Given the description of an element on the screen output the (x, y) to click on. 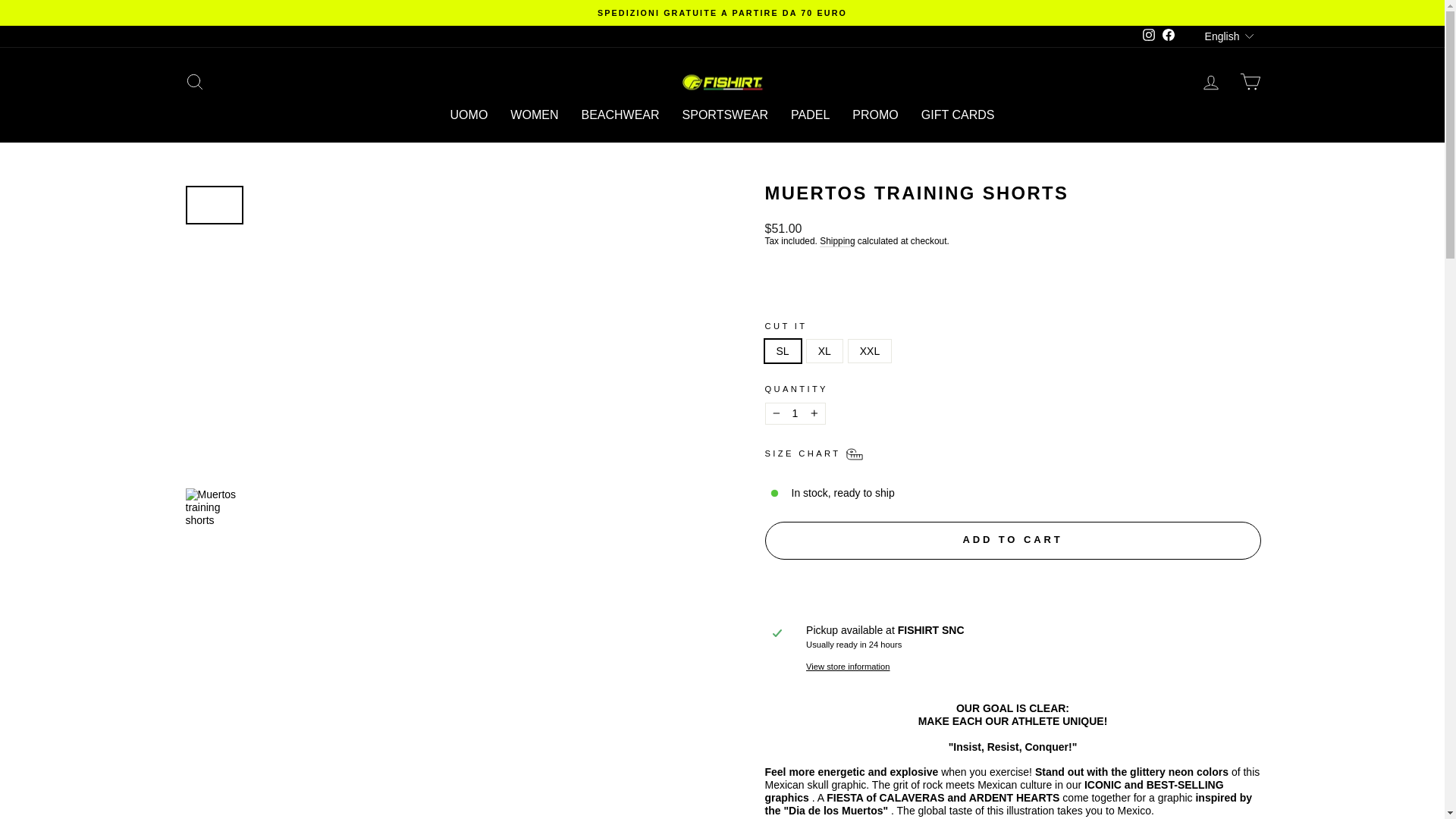
FishirtShop on Instagram (1148, 35)
FishirtShop on Facebook (1167, 35)
1 (794, 413)
